Given the description of an element on the screen output the (x, y) to click on. 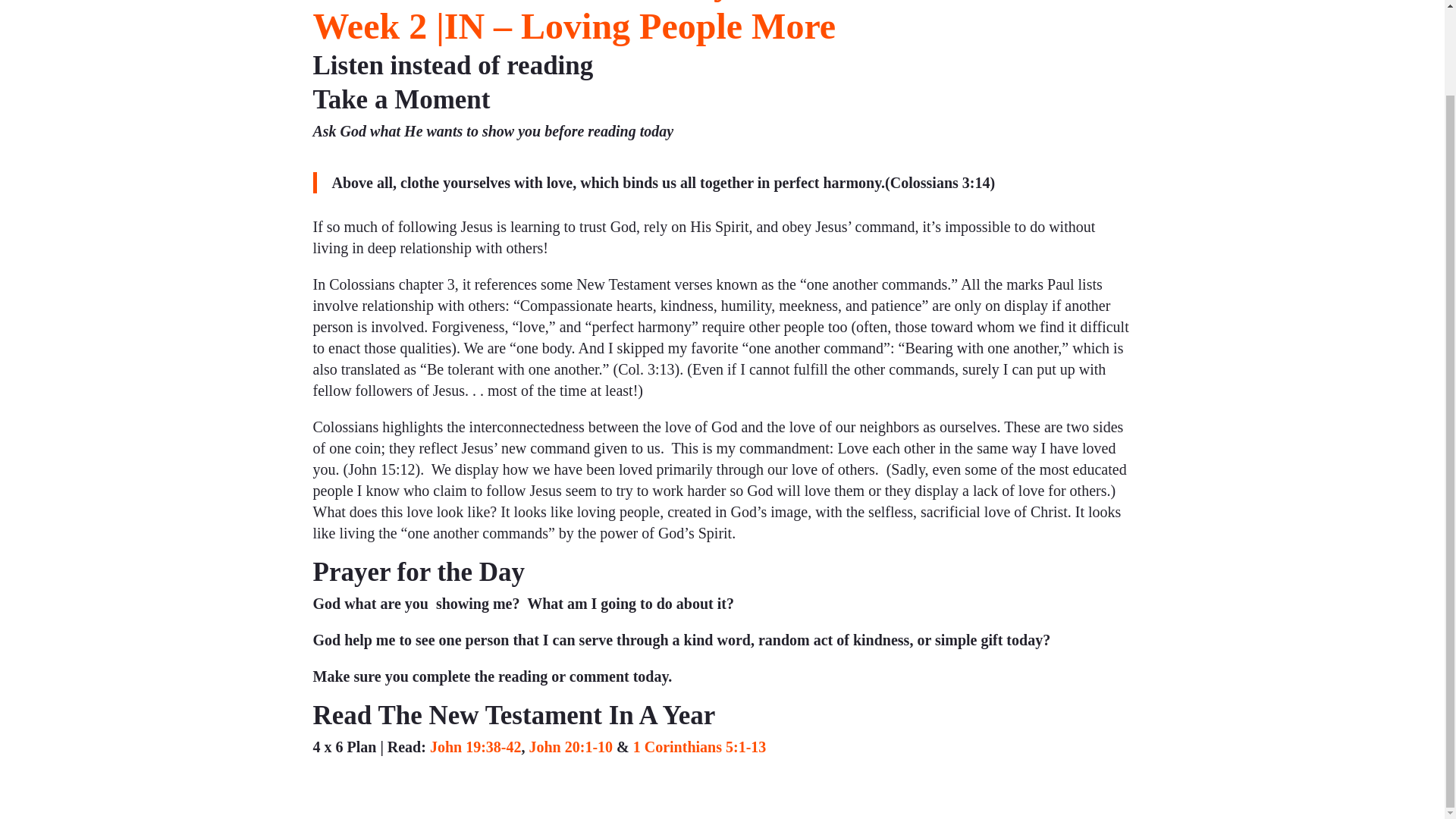
1 Corinthians 5:1-13 (700, 746)
John 19:38-42 (475, 746)
Listen instead of reading (452, 65)
John 20:1-10 (570, 746)
